Given the description of an element on the screen output the (x, y) to click on. 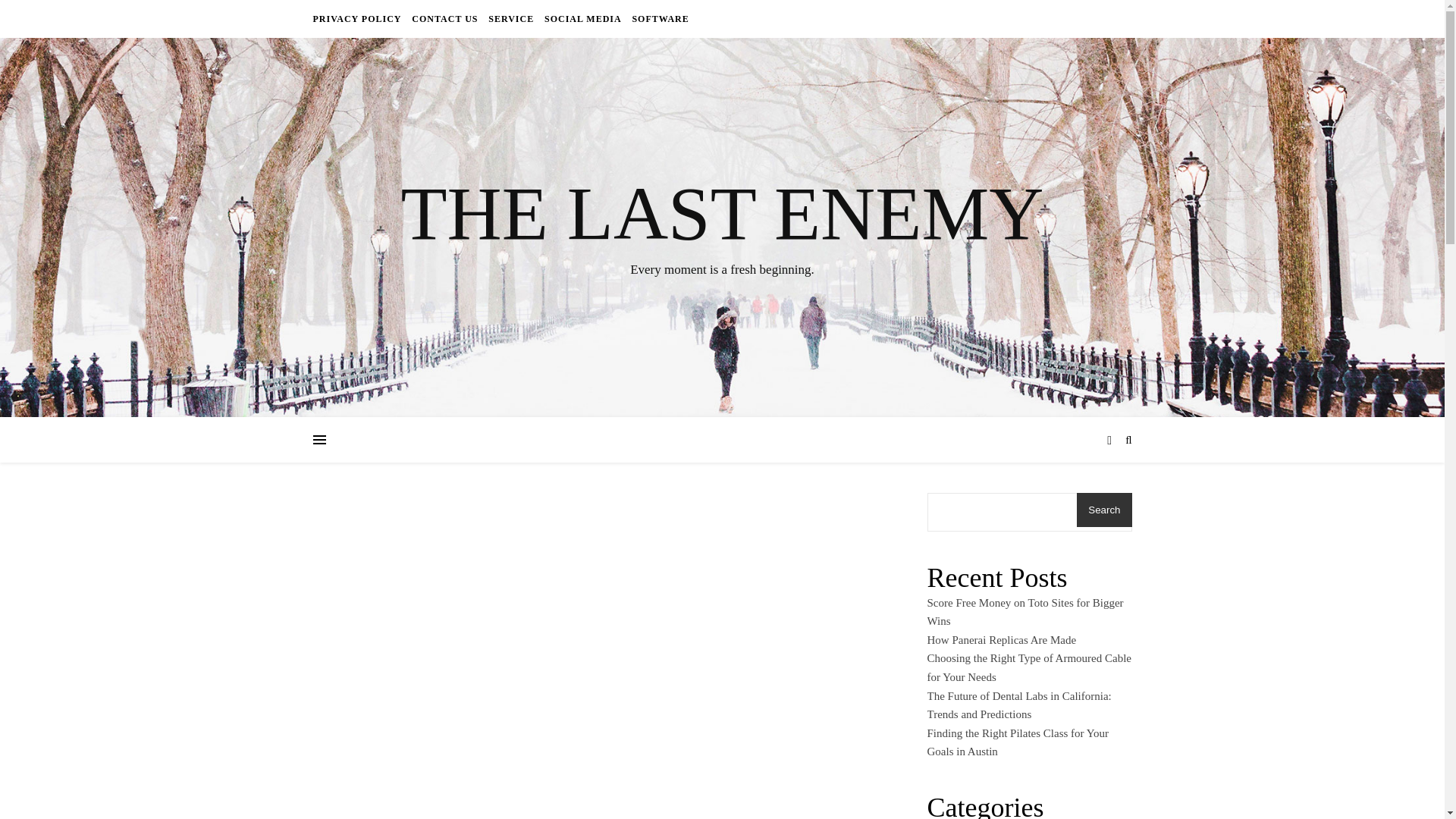
CONTACT US (444, 18)
Search (1104, 510)
Score Free Money on Toto Sites for Bigger Wins (1024, 612)
How Panerai Replicas Are Made (1000, 639)
Finding the Right Pilates Class for Your Goals in Austin (1017, 742)
SOCIAL MEDIA (583, 18)
SERVICE (510, 18)
SOFTWARE (657, 18)
PRIVACY POLICY (358, 18)
